Given the description of an element on the screen output the (x, y) to click on. 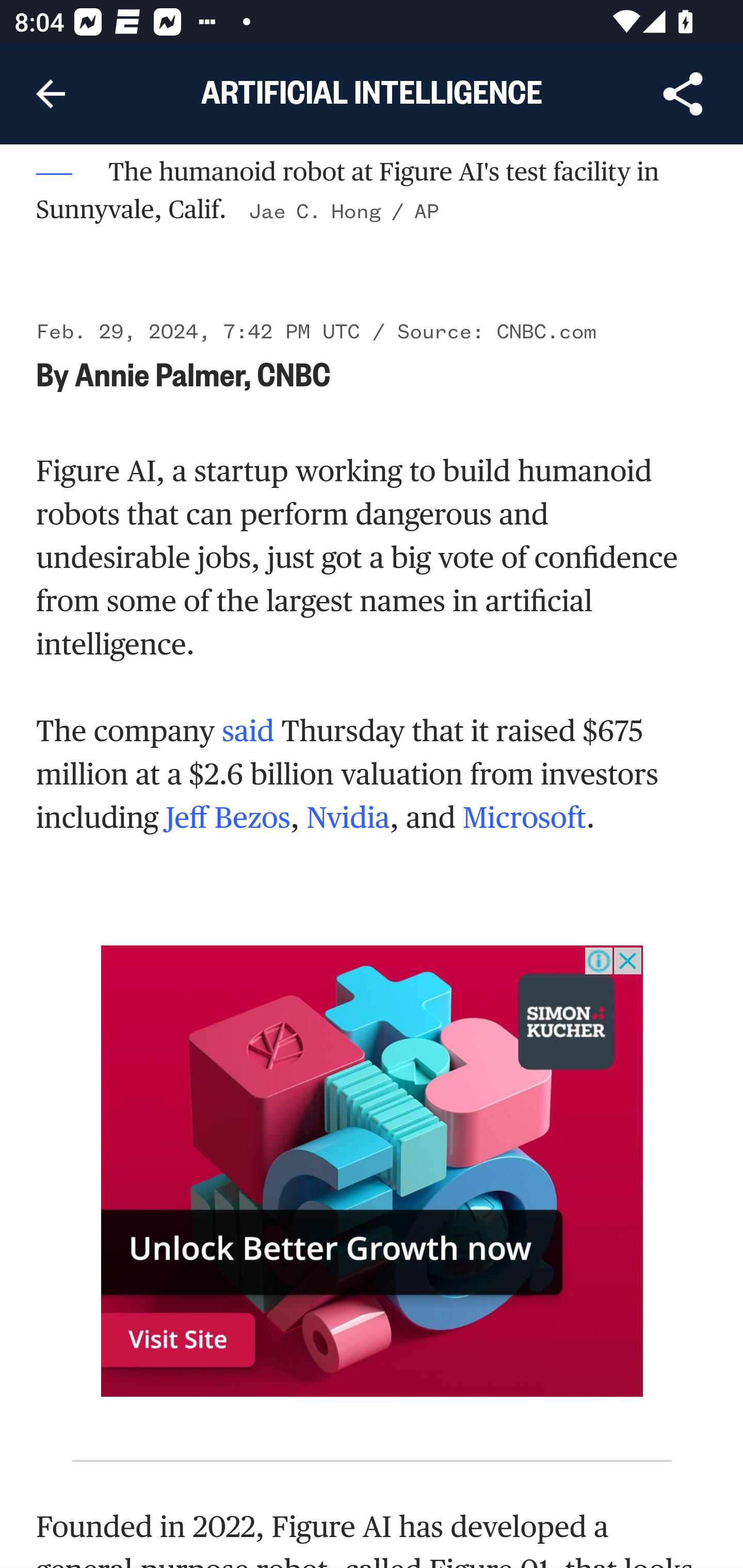
Navigate up (50, 93)
Share Article, button (683, 94)
said (247, 731)
Jeff Bezos (227, 817)
Nvidia (347, 817)
Microsoft (524, 817)
